Given the description of an element on the screen output the (x, y) to click on. 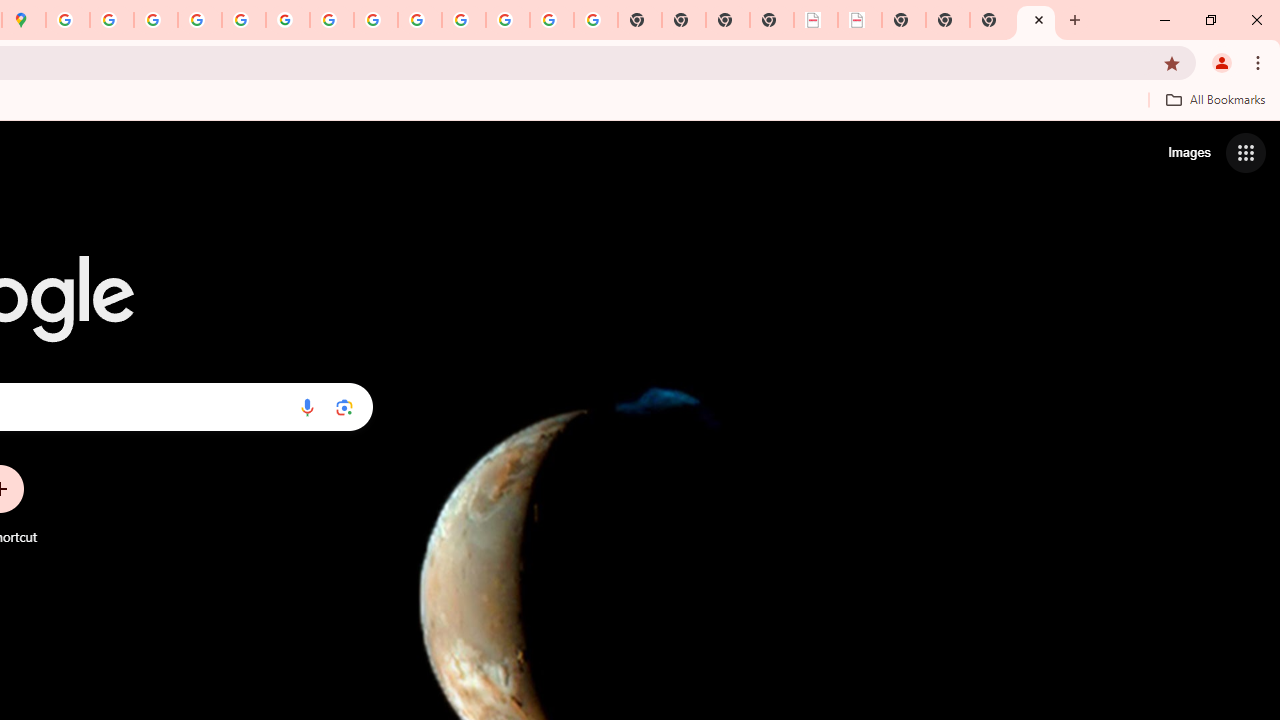
BAE Systems Brasil | BAE Systems (859, 20)
Google Images (595, 20)
New Tab (1035, 20)
Privacy Help Center - Policies Help (199, 20)
Privacy Help Center - Policies Help (155, 20)
